Given the description of an element on the screen output the (x, y) to click on. 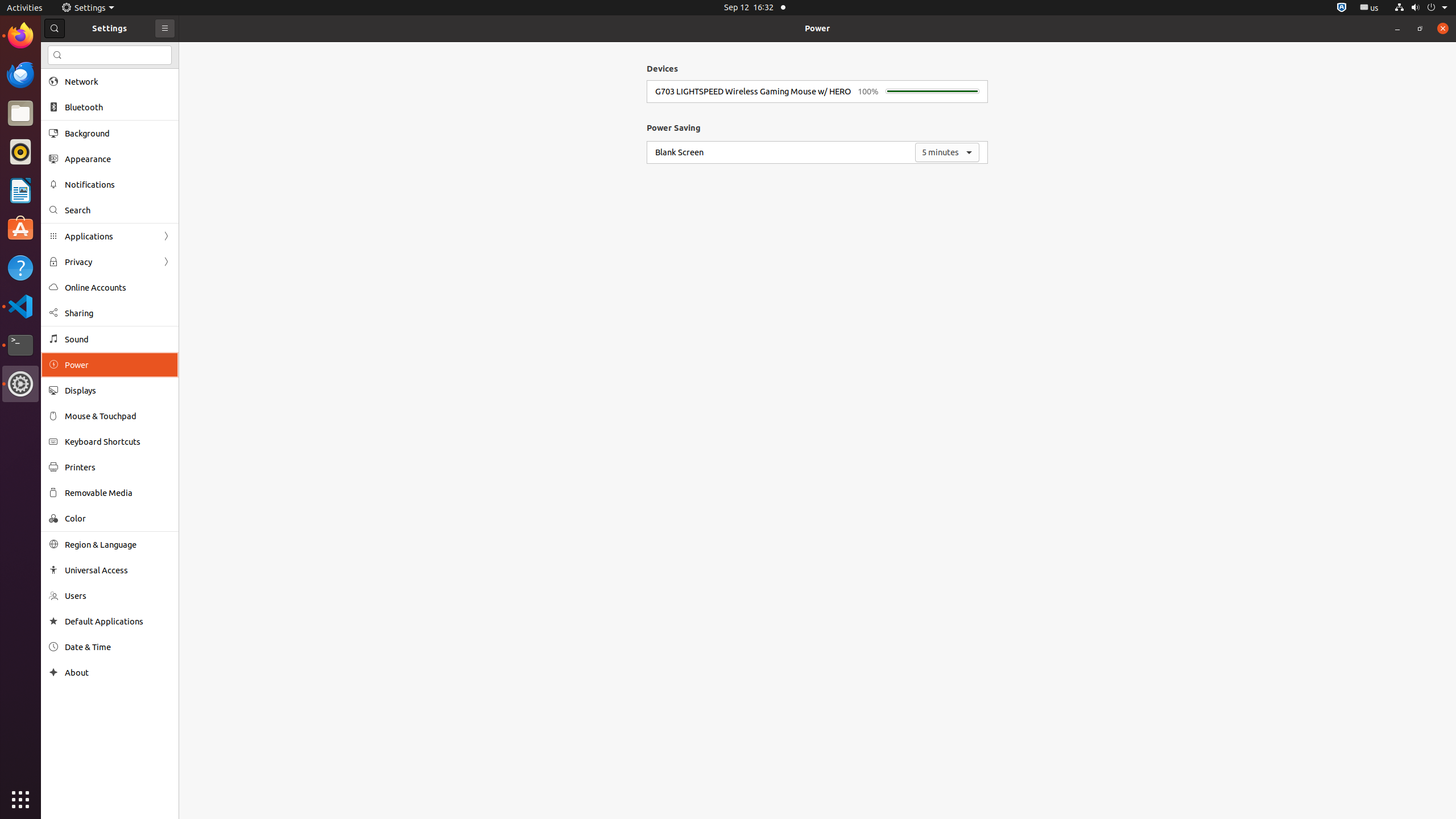
Keyboard Shortcuts Element type: label (117, 441)
Devices Element type: label (661, 68)
luyi1 Element type: label (75, 50)
edit-find-symbolic Element type: icon (56, 54)
Notifications Element type: label (117, 184)
